Given the description of an element on the screen output the (x, y) to click on. 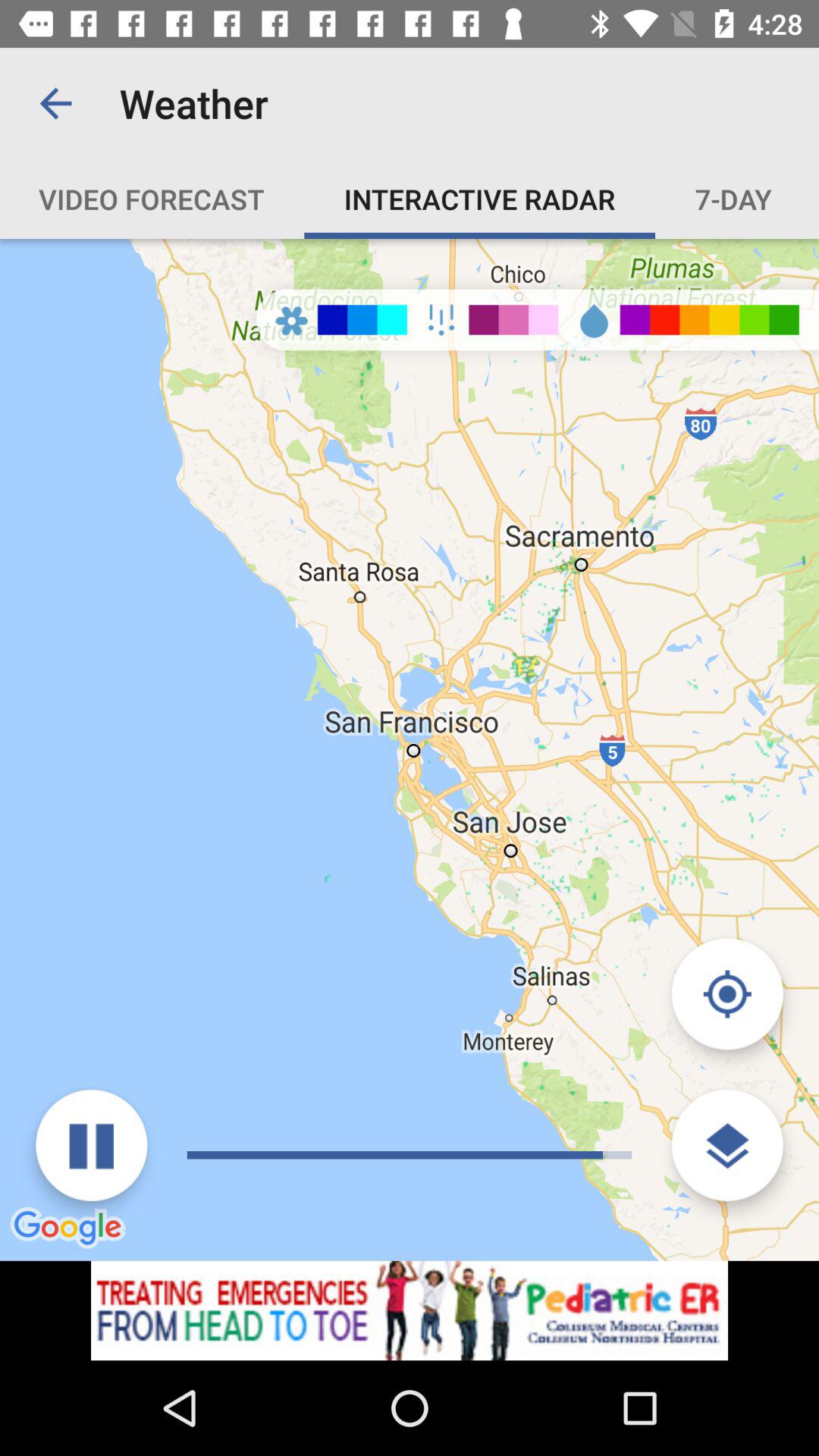
change view (727, 1145)
